Given the description of an element on the screen output the (x, y) to click on. 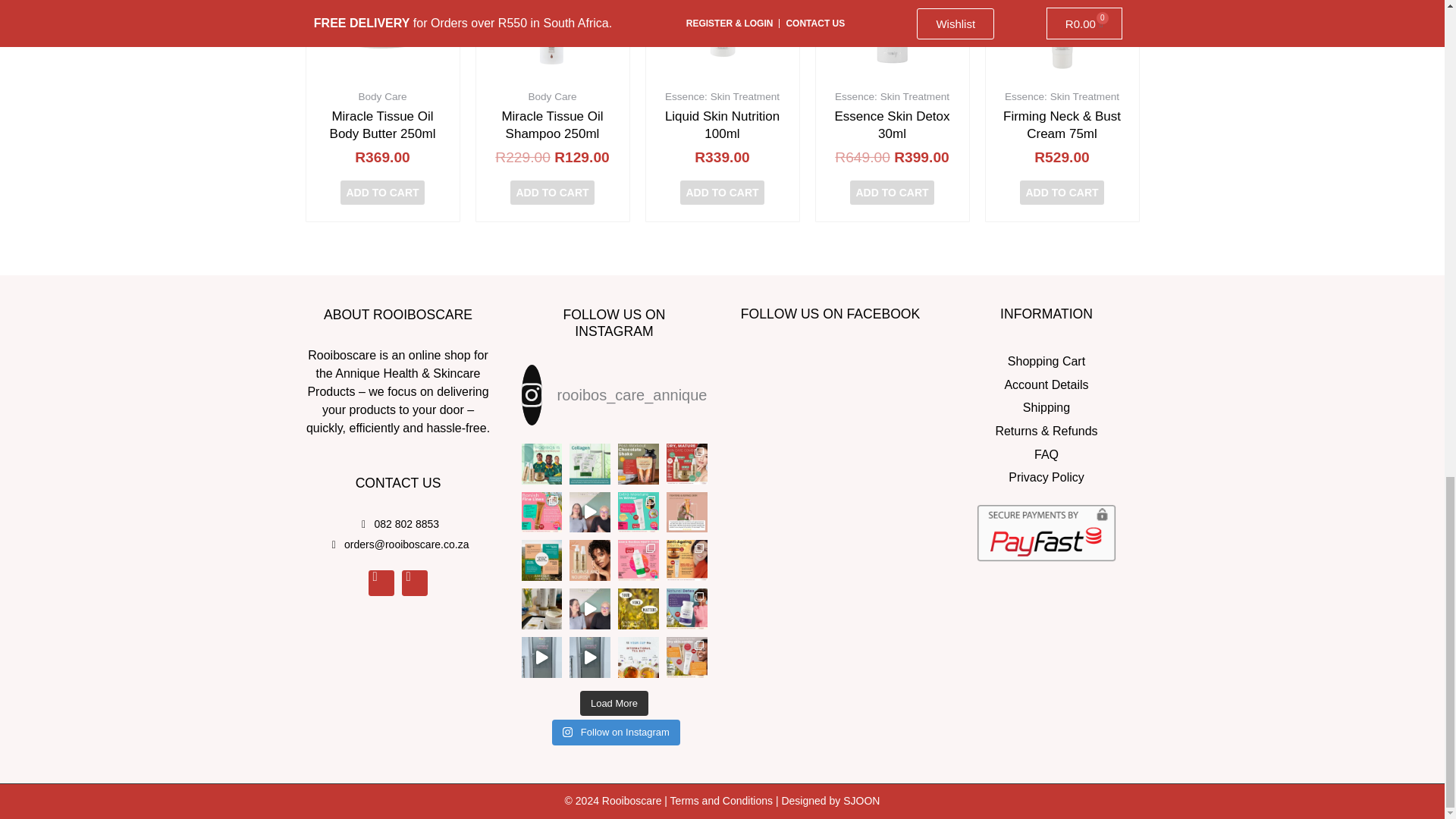
Website proudly designed by Sjoon Web Studio (861, 800)
